Given the description of an element on the screen output the (x, y) to click on. 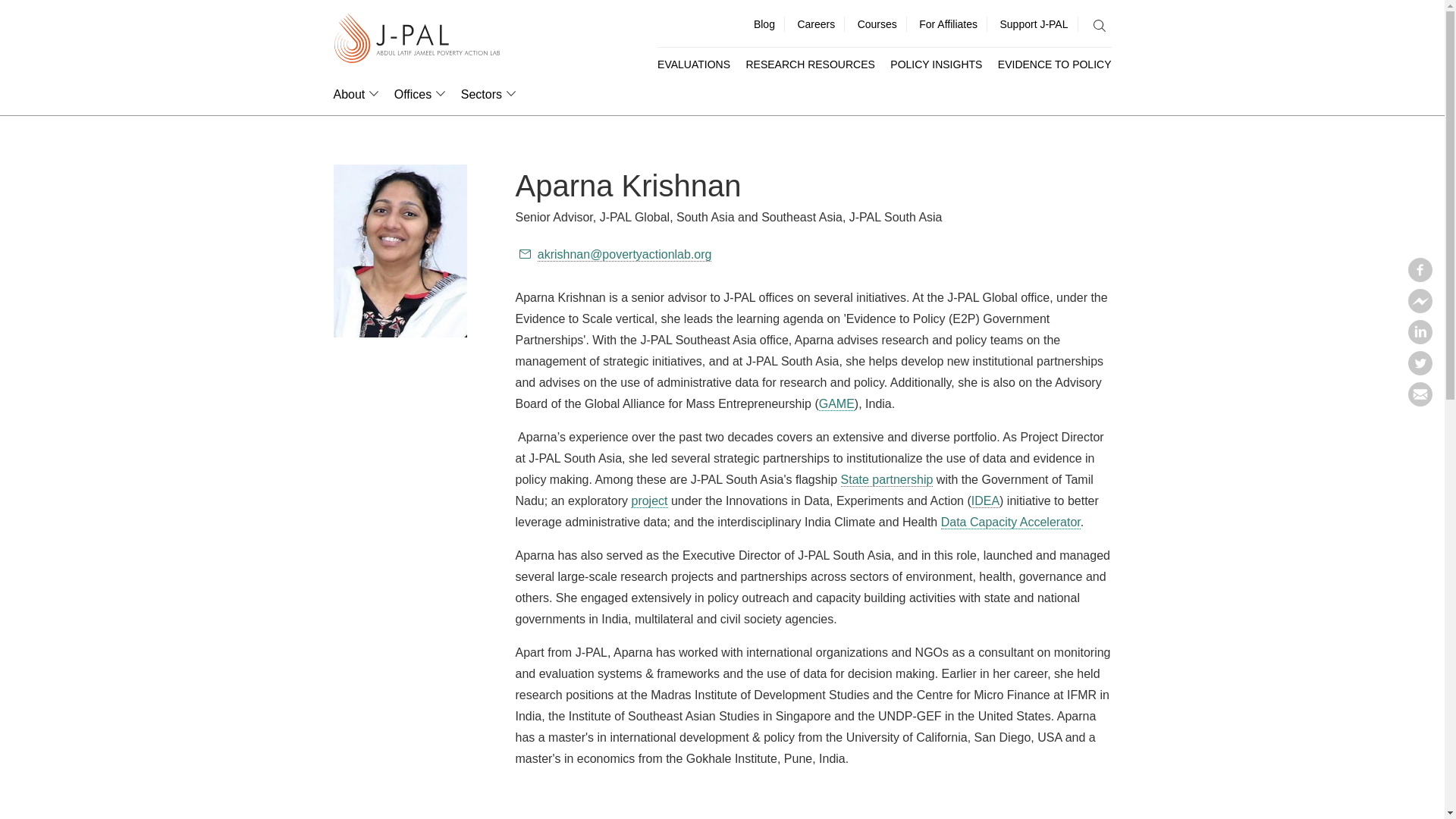
Twitter (1419, 370)
Facebook messenger (1419, 308)
Email (1419, 401)
Linkedin (1419, 339)
J-PAL (416, 39)
Facebook (1419, 277)
